Given the description of an element on the screen output the (x, y) to click on. 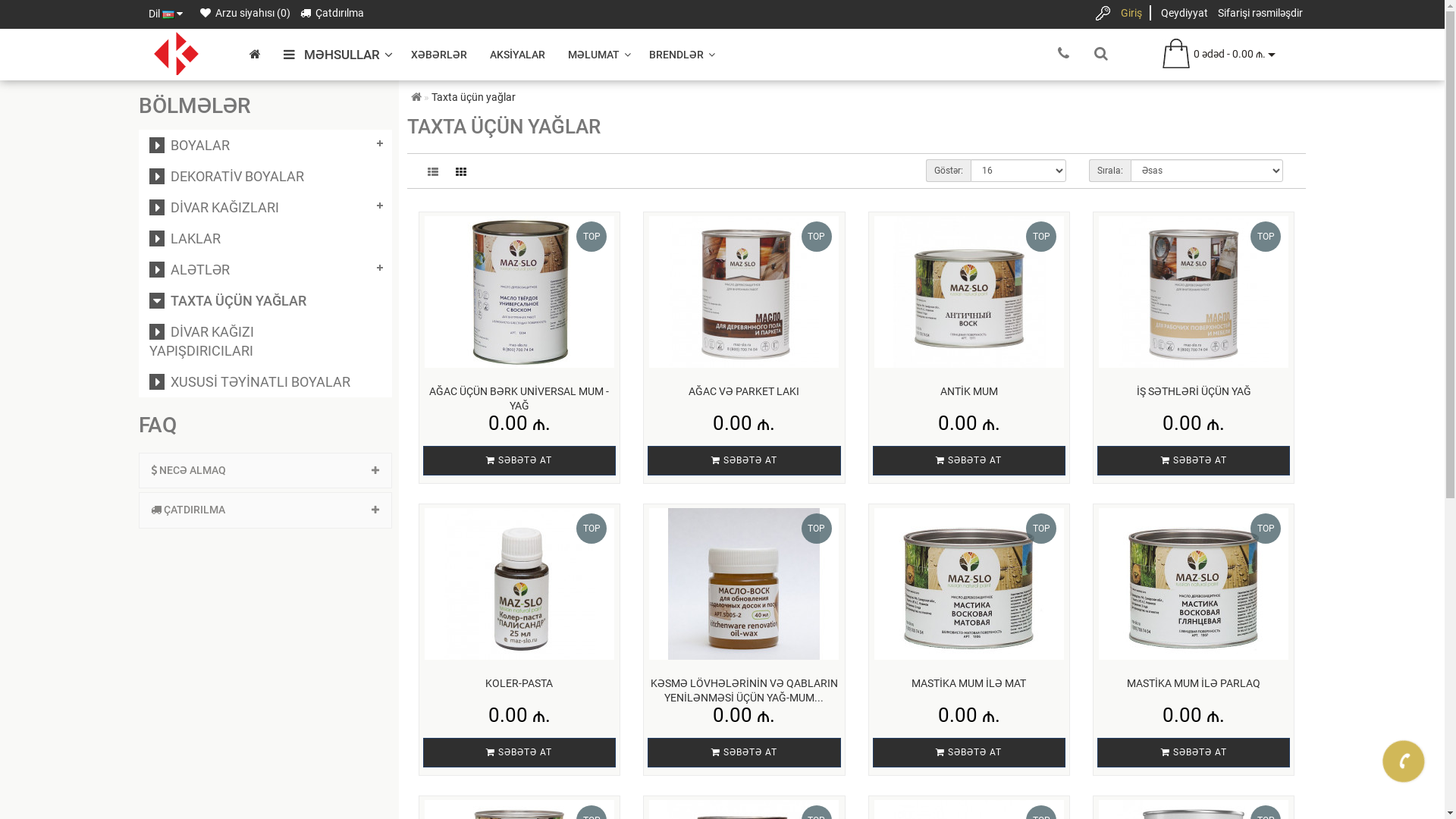
  DEKORATIV BOYALAR Element type: text (225, 176)
  BOYALAR Element type: text (188, 145)
Qeydiyyat Element type: text (1183, 12)
Dil Element type: text (164, 13)
ANTIK MUM Element type: text (968, 391)
Antik mum Element type: hover (968, 291)
Konstruktor Element type: hover (175, 52)
Koler-pasta Element type: hover (519, 583)
AKSIYALAR Element type: text (517, 54)
KOLER-PASTA Element type: text (518, 683)
  LAKLAR Element type: text (183, 238)
cart Element type: hover (1176, 54)
